Given the description of an element on the screen output the (x, y) to click on. 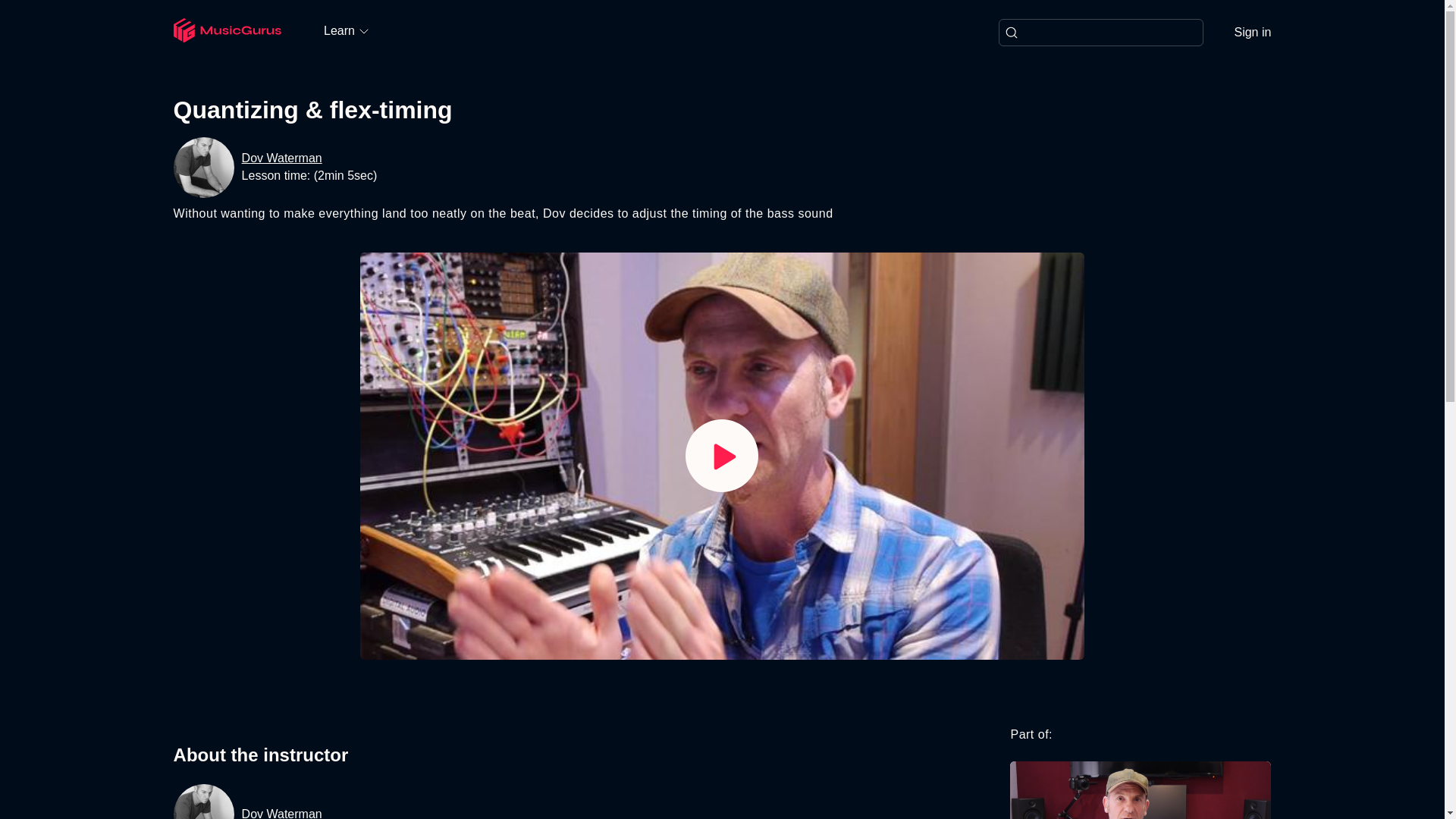
Sign in (1252, 32)
Learn (346, 29)
Dov Waterman (281, 812)
Dov Waterman (281, 158)
MusicGurus (227, 32)
